Given the description of an element on the screen output the (x, y) to click on. 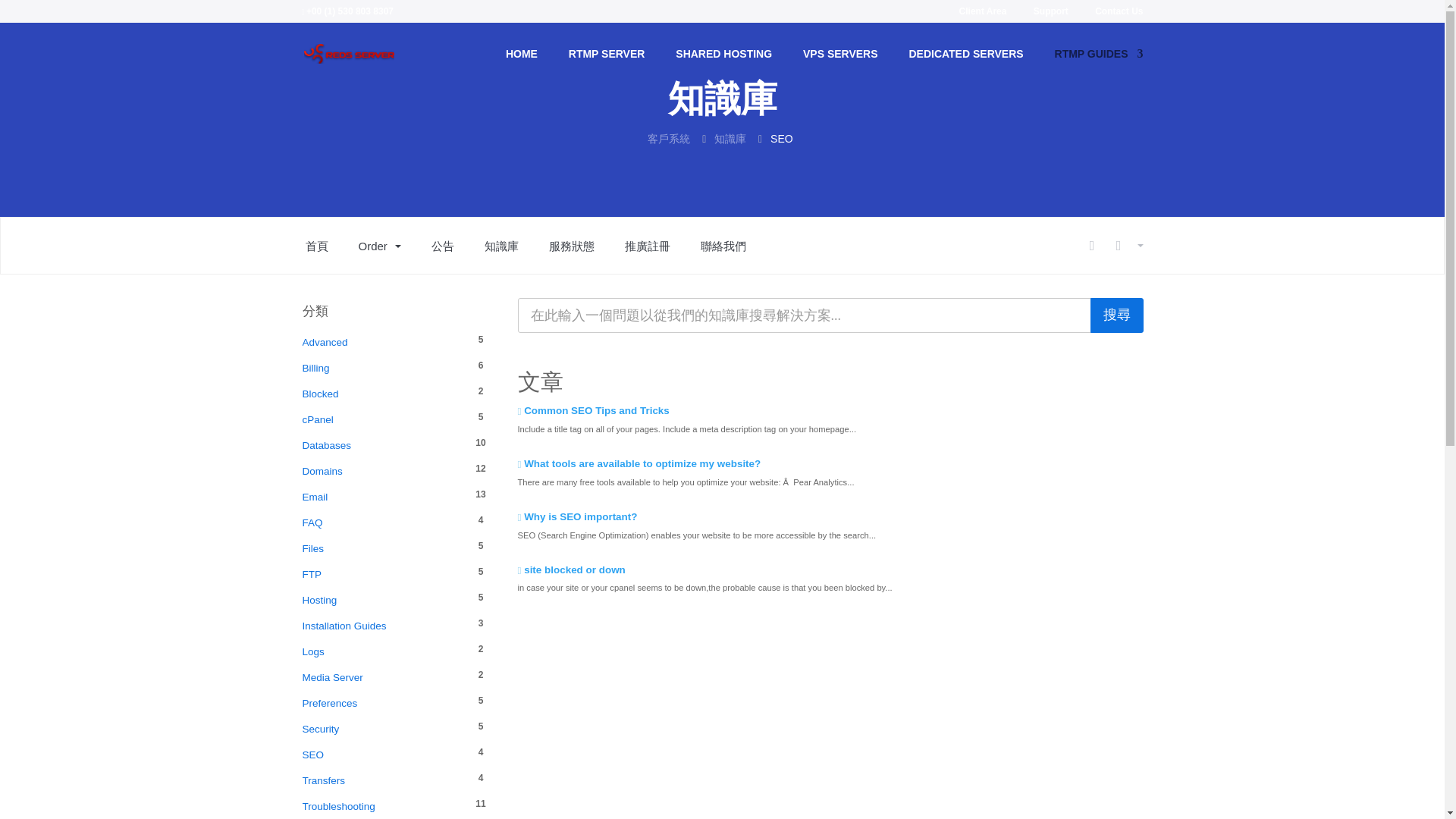
VPS SERVERS (846, 66)
HOME (526, 66)
Support (1044, 14)
FTP (383, 574)
Troubleshooting (383, 806)
Media Server (383, 678)
DEDICATED SERVERS (970, 66)
Contact Us (1111, 14)
Transfers (383, 781)
Files (383, 548)
